Given the description of an element on the screen output the (x, y) to click on. 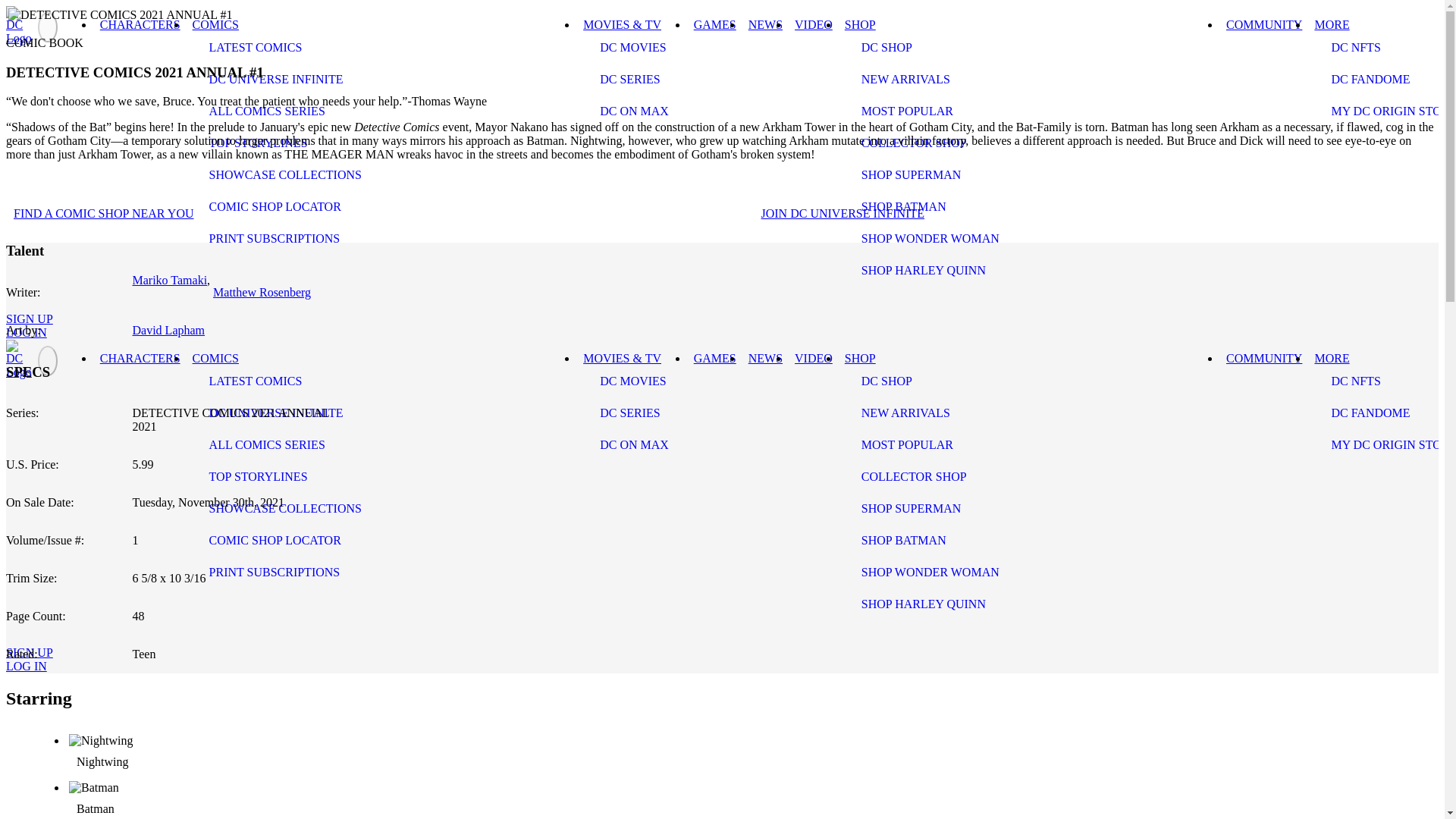
GAMES (714, 24)
SHOP (860, 24)
COMMUNITY (1263, 24)
CHARACTERS (140, 24)
COMICS (215, 358)
NEWS (765, 24)
CHARACTERS (140, 358)
Open search (25, 633)
Batman (739, 800)
Batman (101, 808)
VIDEO (813, 24)
COMICS (215, 24)
SIGN UP (28, 318)
Open search (25, 299)
